Given the description of an element on the screen output the (x, y) to click on. 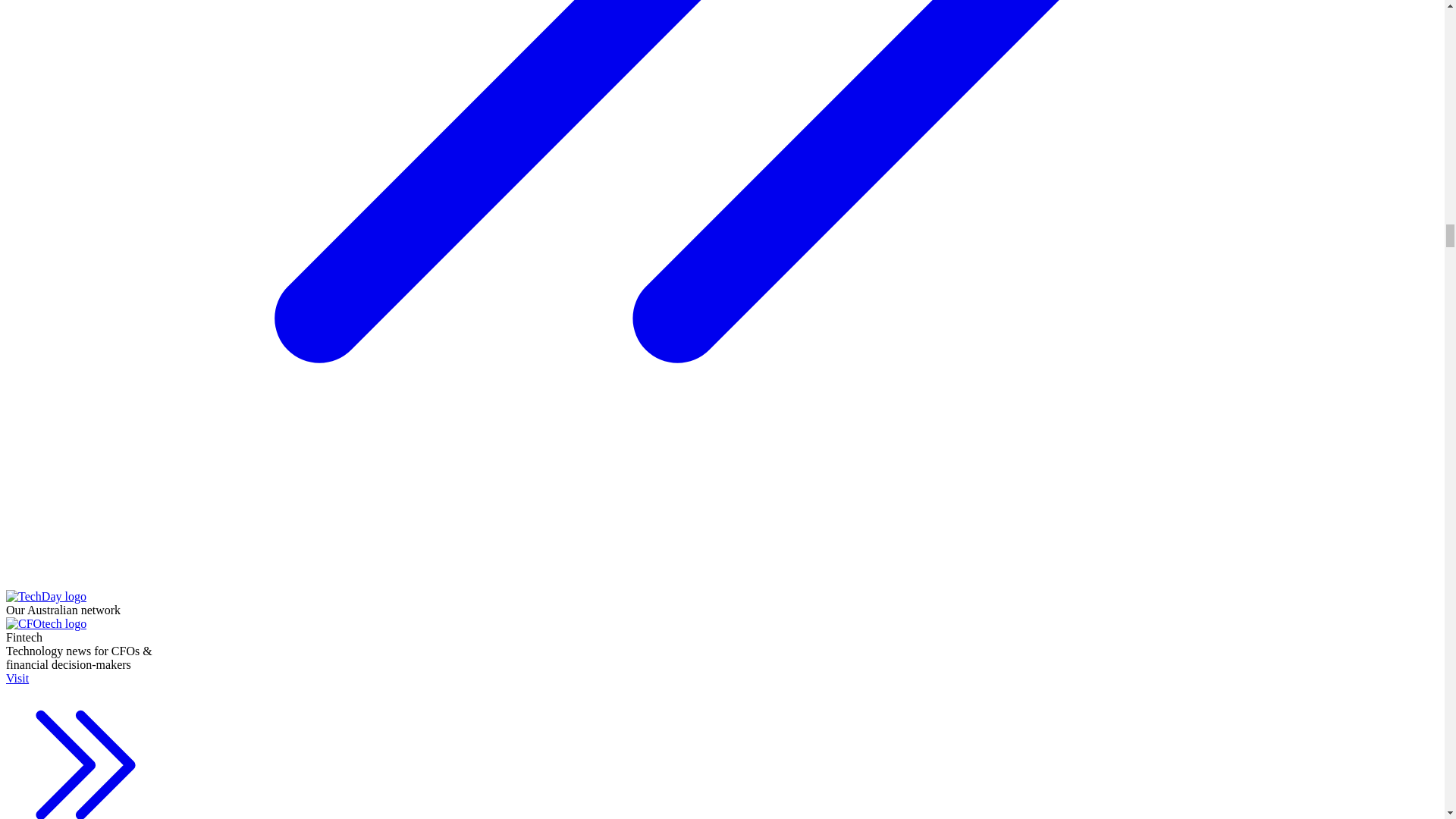
Visit (85, 745)
